Given the description of an element on the screen output the (x, y) to click on. 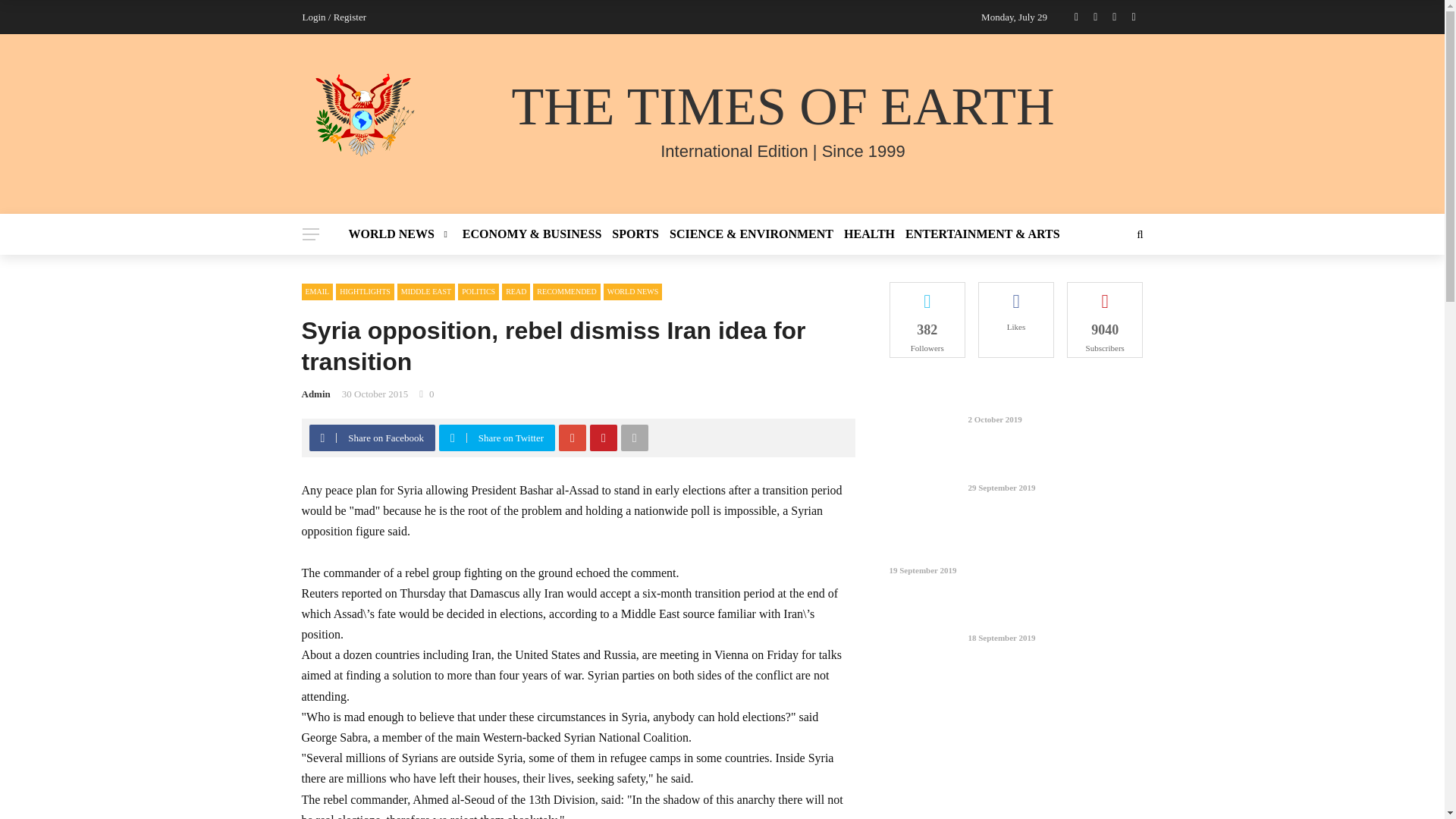
SPORTS (635, 233)
HEALTH (868, 233)
WORLD NEWS (403, 233)
